Given the description of an element on the screen output the (x, y) to click on. 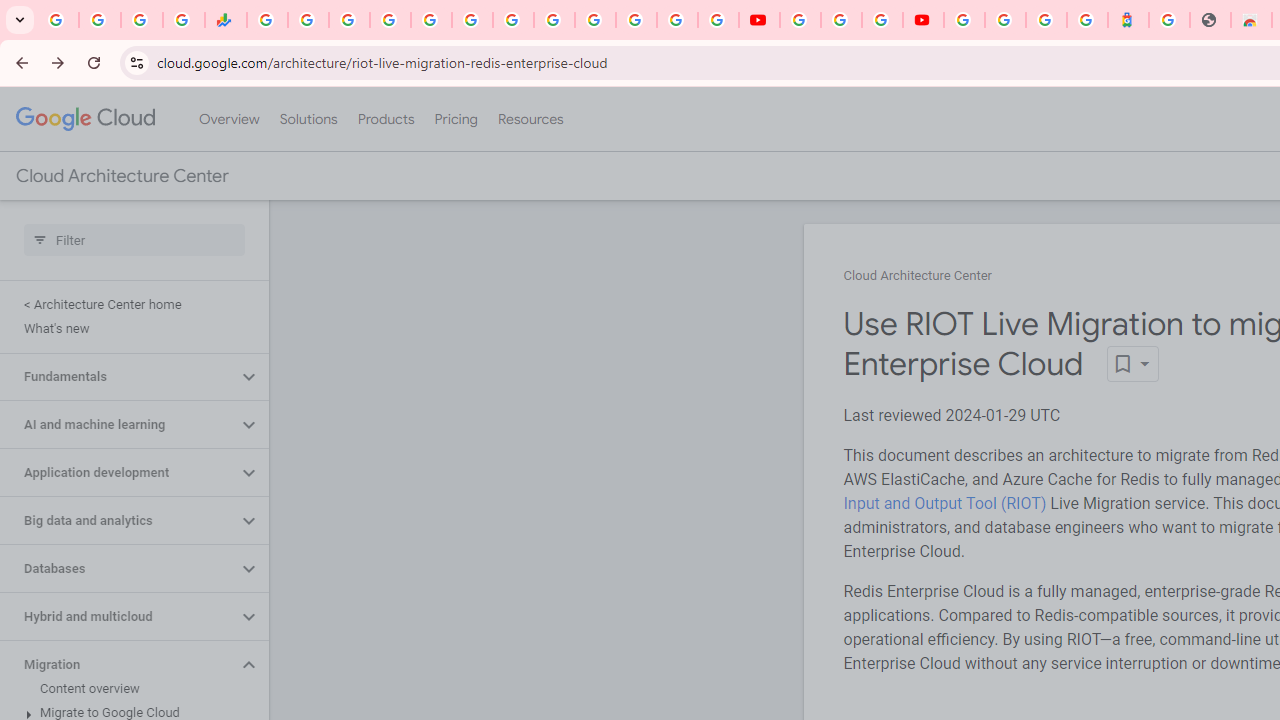
Type to filter (134, 239)
Migration (118, 664)
Products (385, 119)
Google Account Help (840, 20)
Atour Hotel - Google hotels (1128, 20)
Google Workspace Admin Community (58, 20)
< Architecture Center home (130, 304)
Privacy Checkup (717, 20)
